Given the description of an element on the screen output the (x, y) to click on. 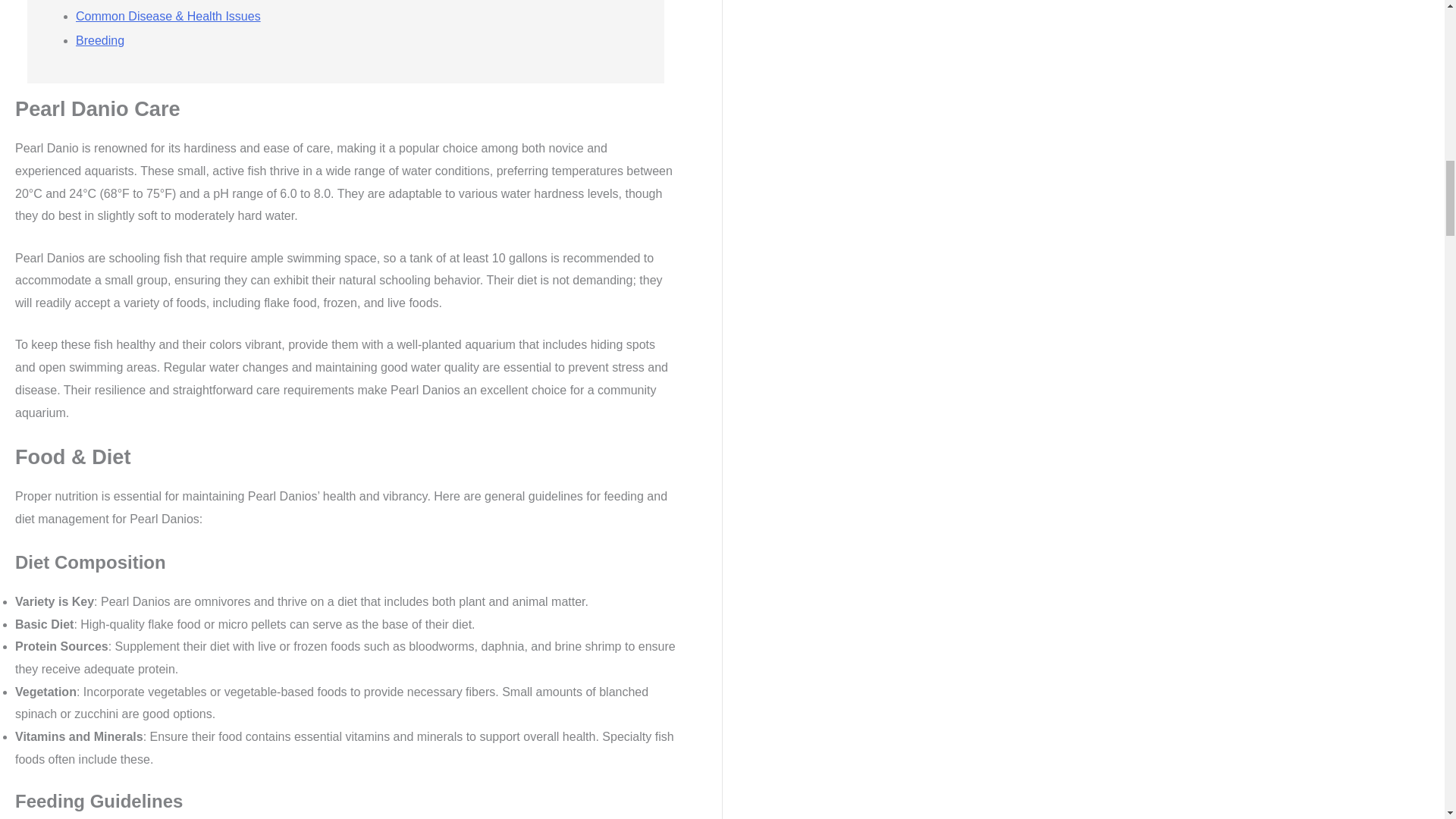
Breeding (99, 40)
